Given the description of an element on the screen output the (x, y) to click on. 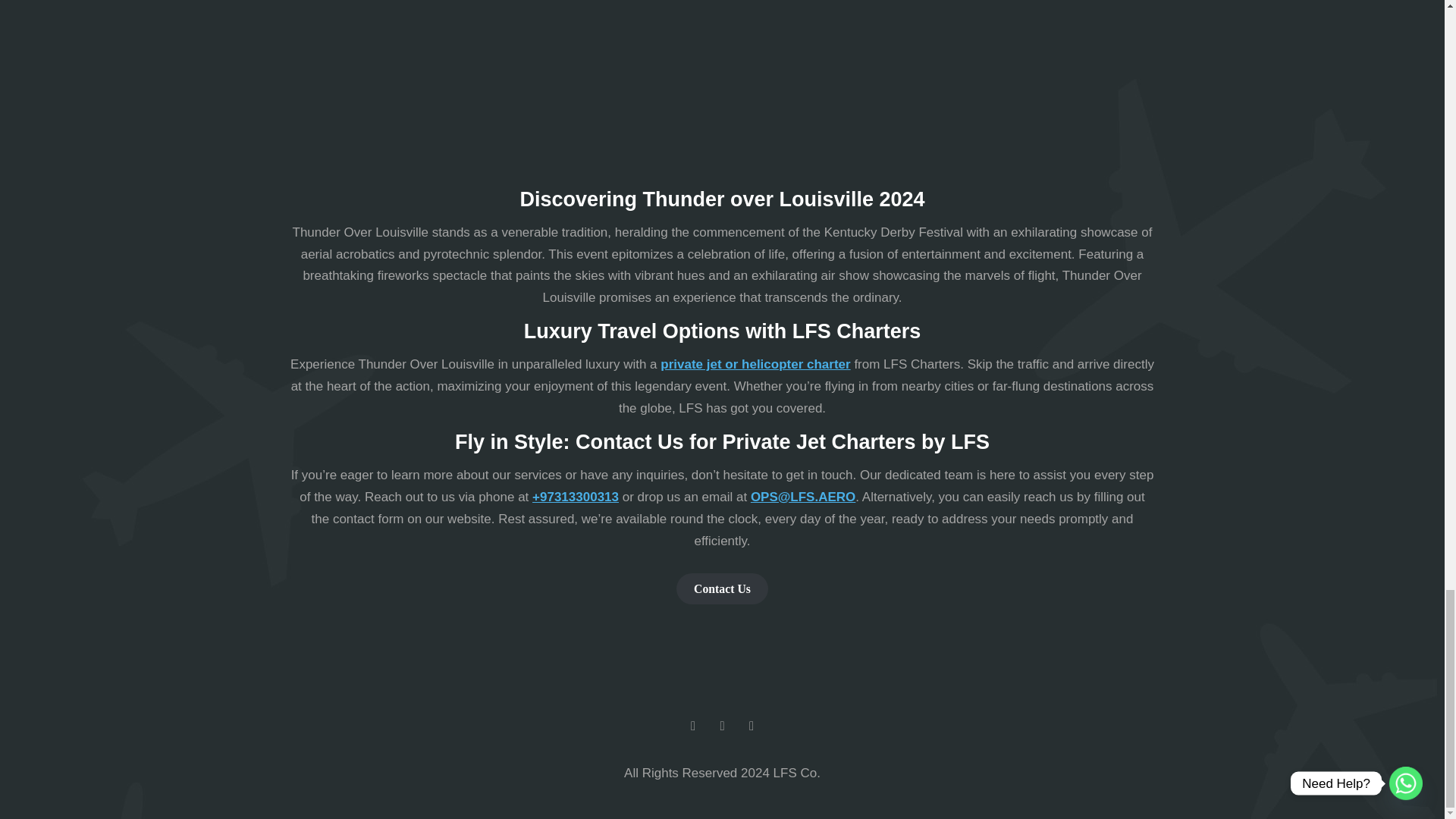
Facebook (692, 725)
LFS Co. (797, 772)
Contact Us (722, 588)
Twitter (722, 725)
private jet or helicopter charter (755, 364)
Instagram (751, 725)
